Given the description of an element on the screen output the (x, y) to click on. 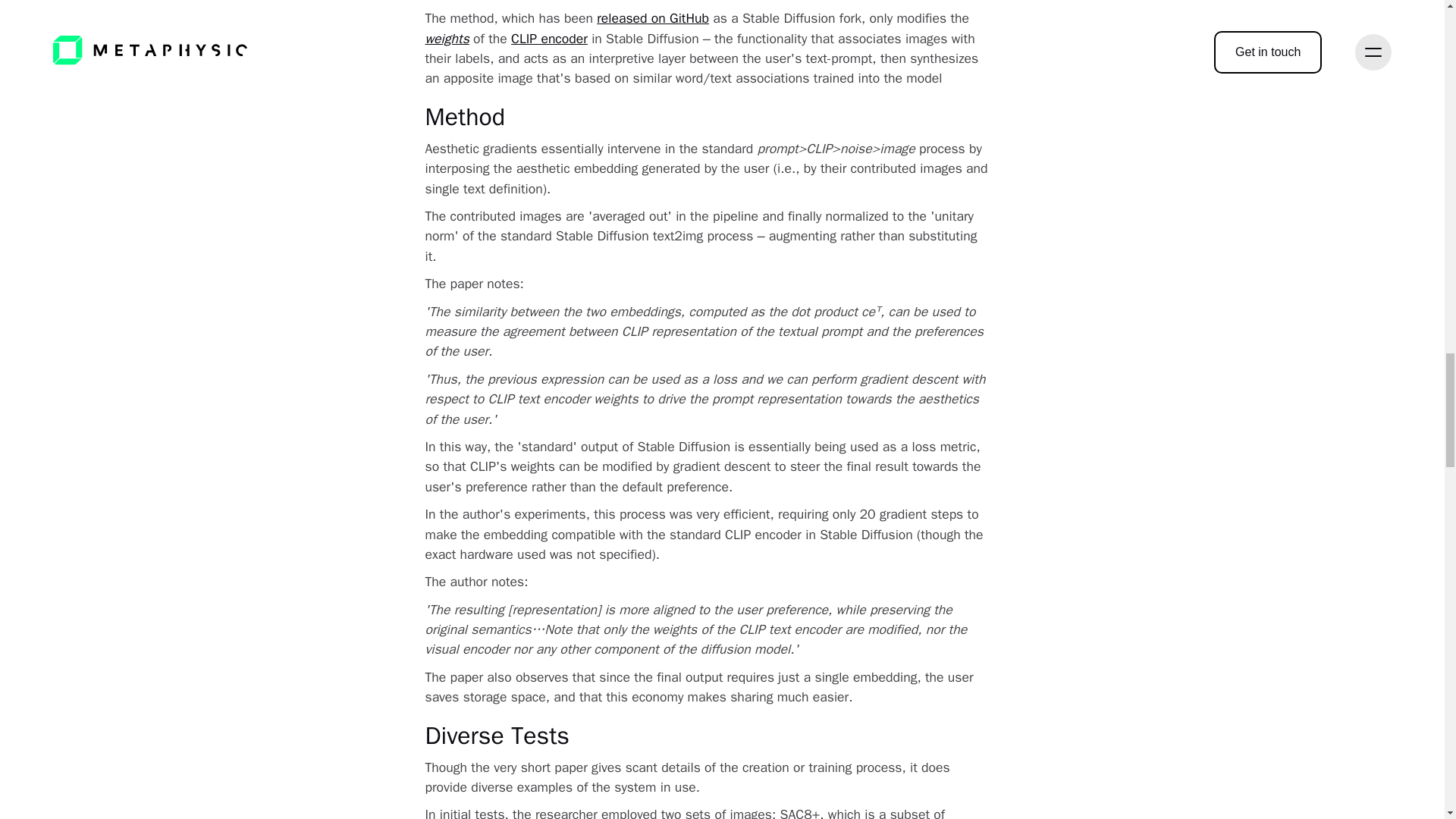
released on GitHub (652, 17)
CLIP encoder (549, 38)
weights (446, 38)
